Given the description of an element on the screen output the (x, y) to click on. 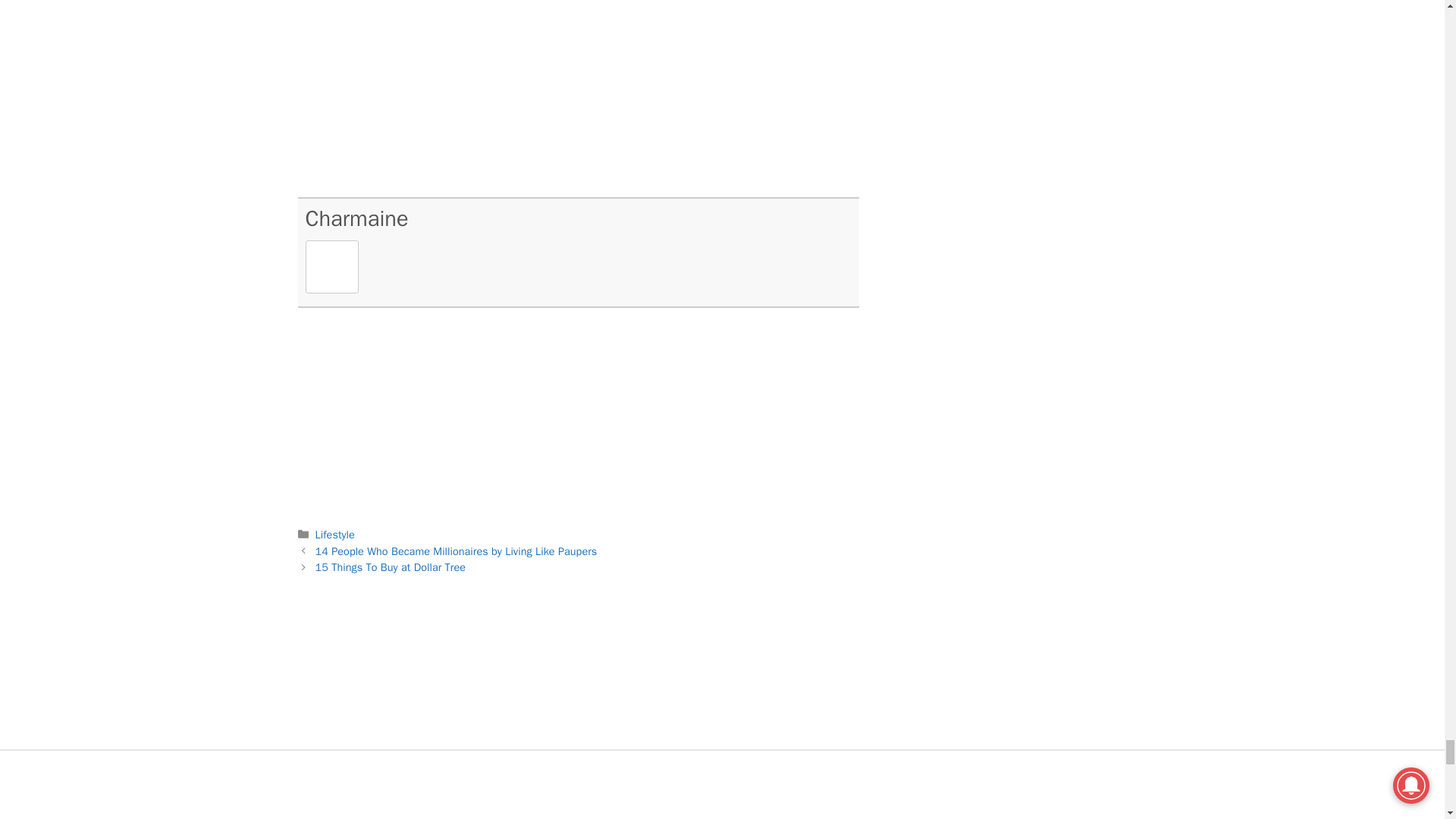
14 People Who Became Millionaires by Living Like Paupers (455, 550)
Lifestyle (335, 534)
Charmaine (355, 218)
15 Things To Buy at Dollar Tree (390, 567)
